Given the description of an element on the screen output the (x, y) to click on. 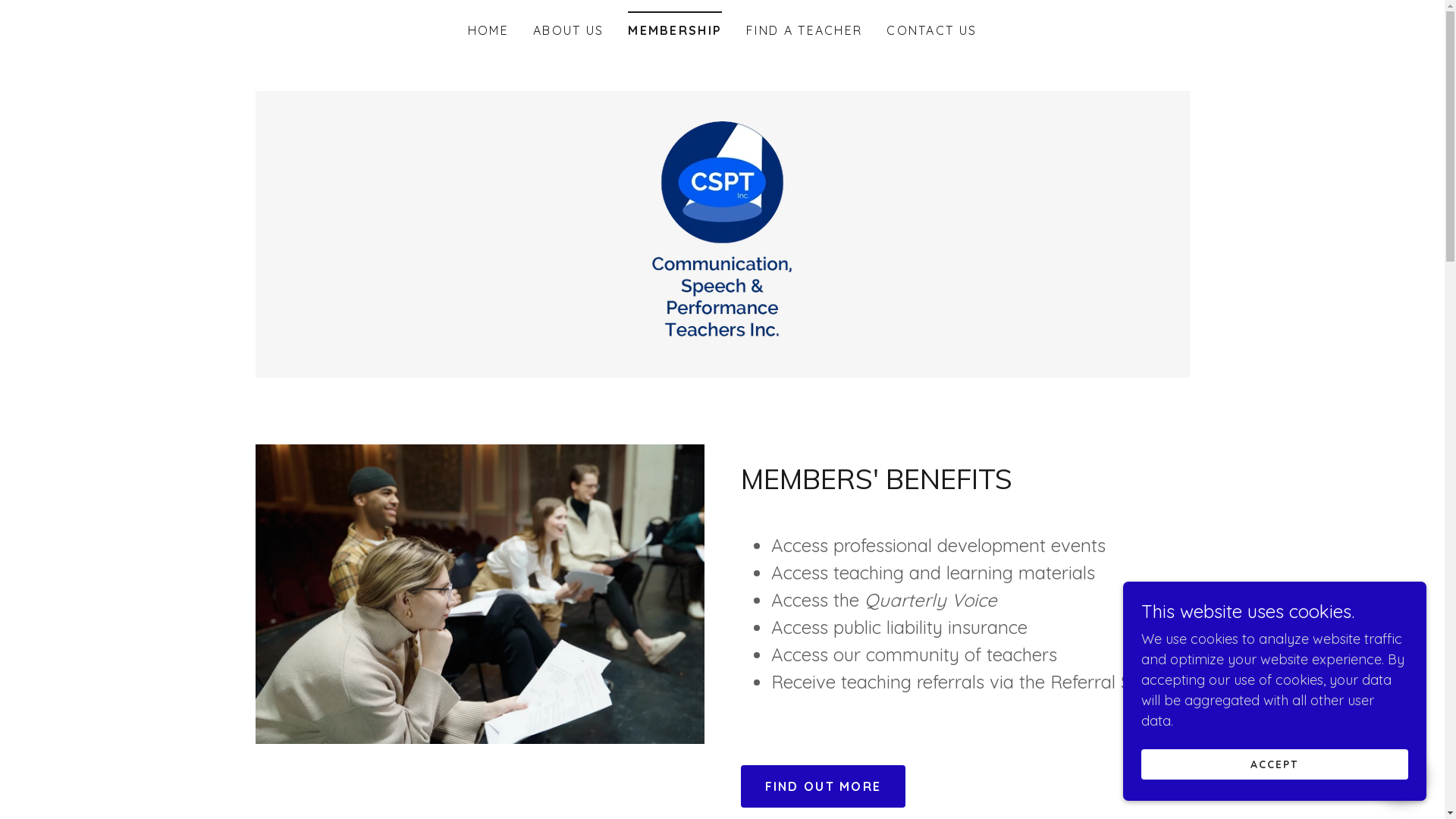
FIND A TEACHER Element type: text (803, 29)
FIND OUT MORE Element type: text (822, 786)
MEMBERSHIP Element type: text (674, 25)
ABOUT US Element type: text (568, 29)
ACCEPT Element type: text (1274, 764)
CONTACT US Element type: text (931, 29)
HOME Element type: text (488, 29)
